Given the description of an element on the screen output the (x, y) to click on. 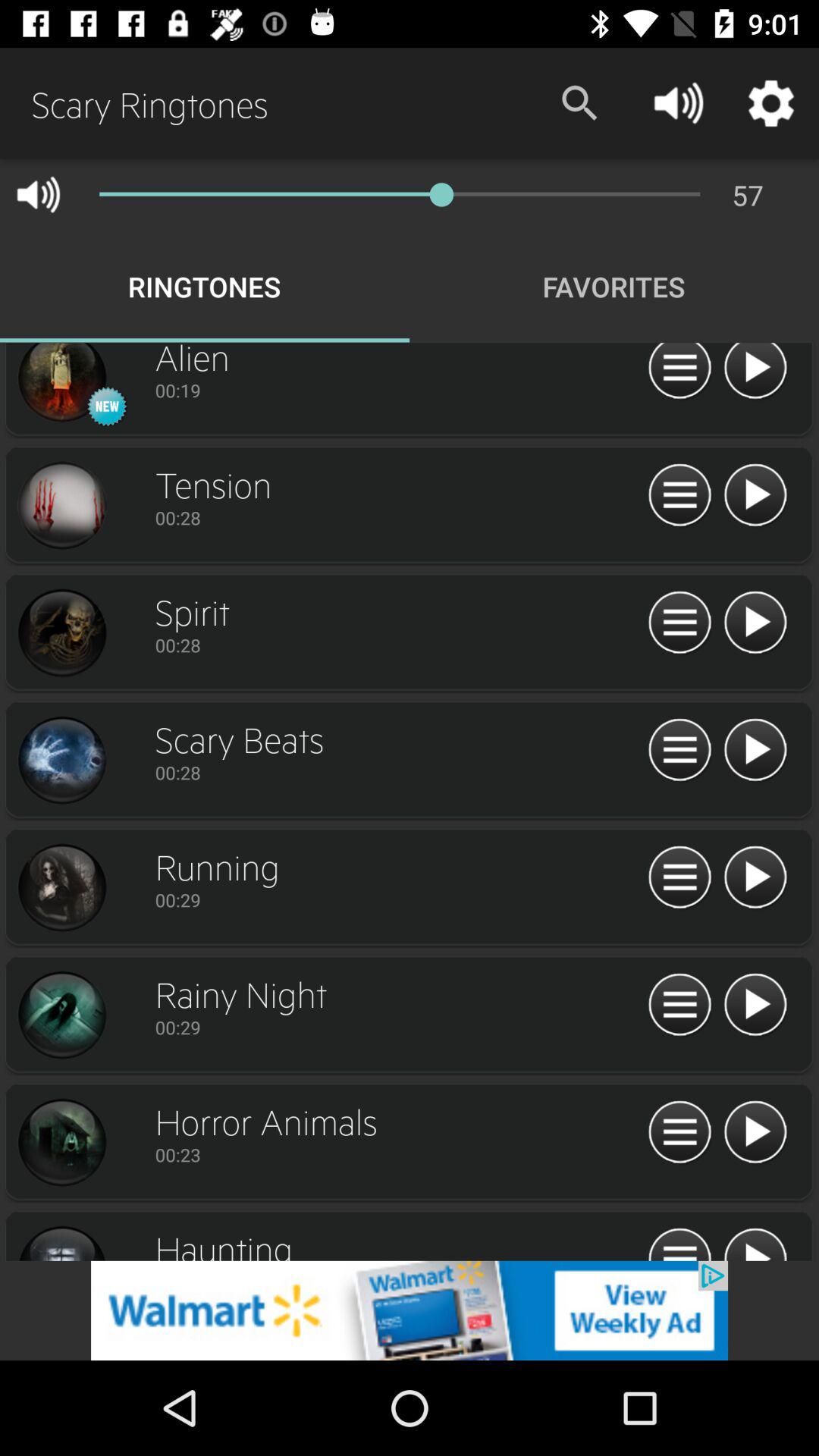
see details (679, 750)
